Given the description of an element on the screen output the (x, y) to click on. 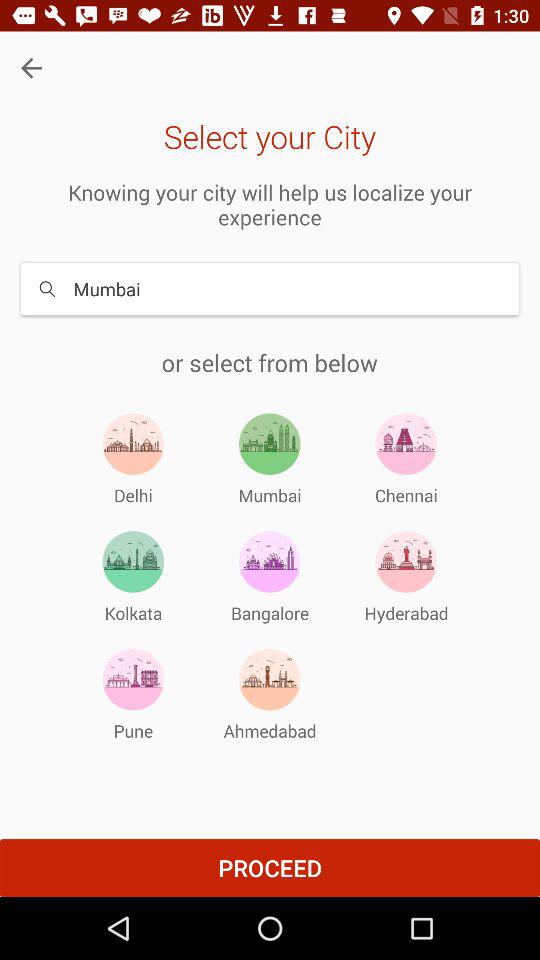
to return (31, 67)
